Given the description of an element on the screen output the (x, y) to click on. 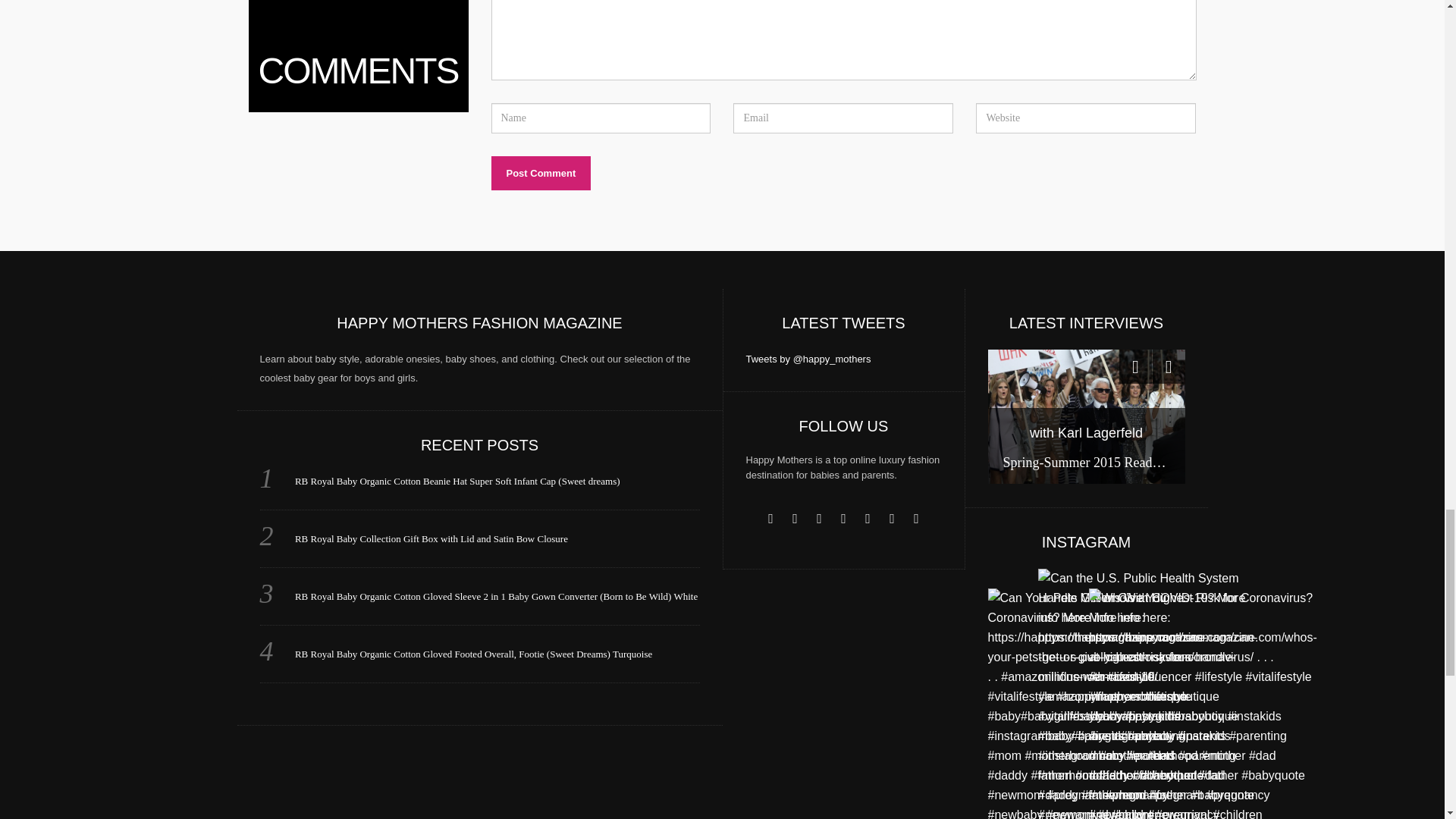
Post Comment (541, 173)
